Given the description of an element on the screen output the (x, y) to click on. 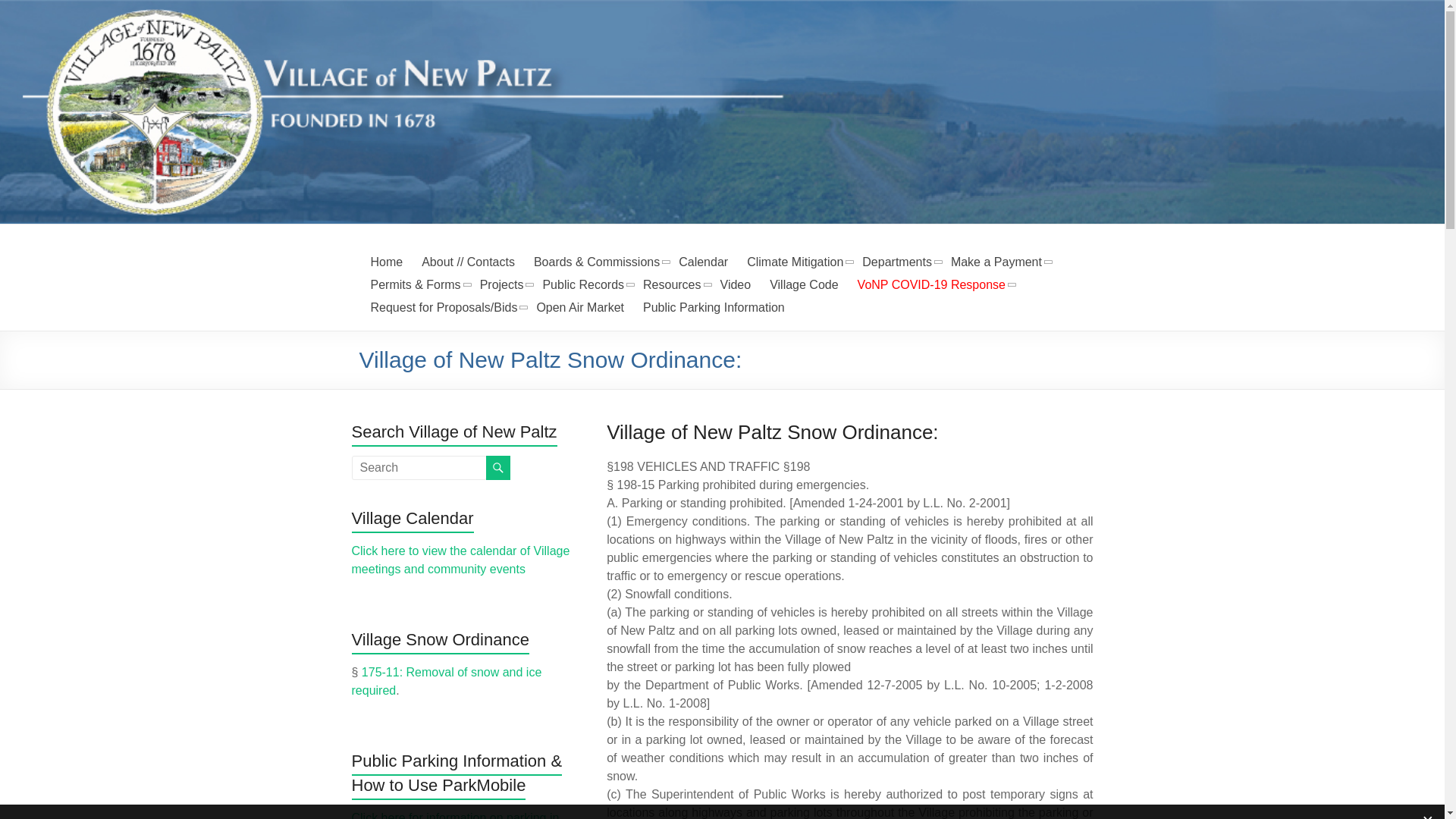
Make a Payment (996, 261)
Climate Mitigation (794, 261)
Departments (896, 261)
Home (386, 261)
Calendar (703, 261)
NBR Committee (502, 284)
